Given the description of an element on the screen output the (x, y) to click on. 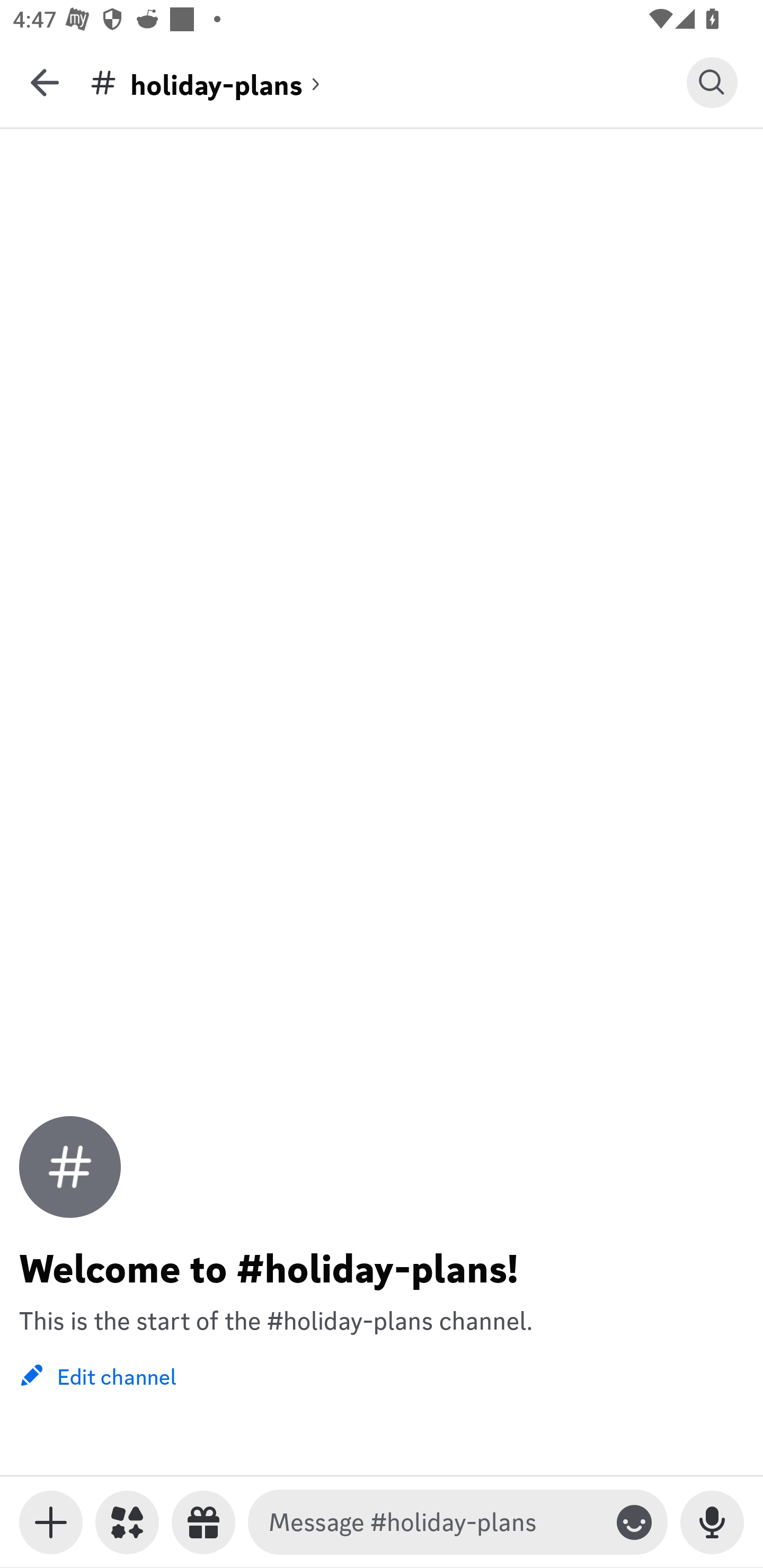
Back (44, 82)
Search (711, 82)
Edit channel (97, 1375)
Message #holiday-plans Toggle emoji keyboard (457, 1522)
Toggle media keyboard (50, 1522)
Apps (126, 1522)
Send a gift (203, 1522)
Record Voice Message (711, 1522)
Toggle emoji keyboard (634, 1522)
